Given the description of an element on the screen output the (x, y) to click on. 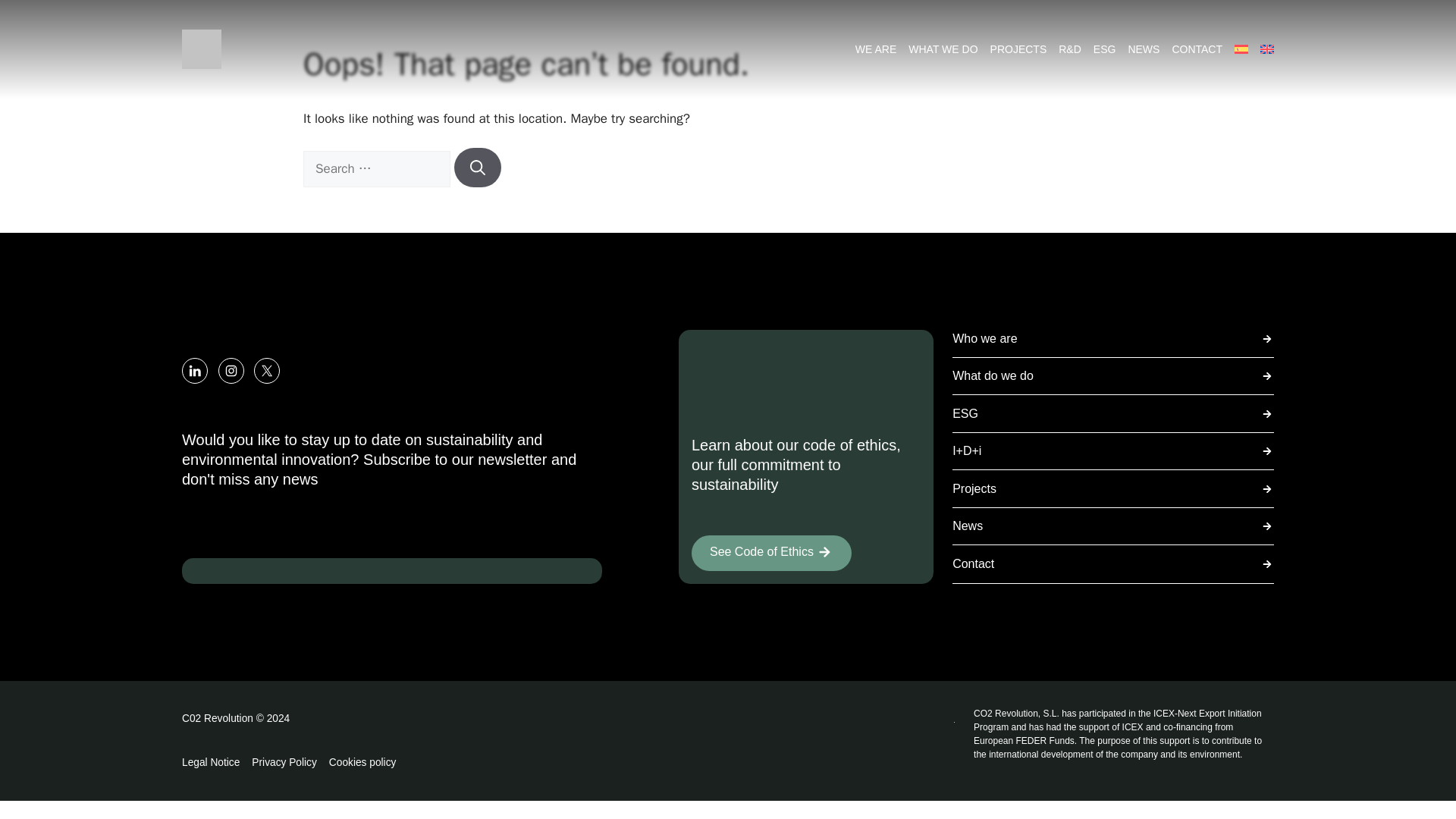
CONTACT (1197, 49)
What do we do (1113, 375)
Privacy Policy (283, 763)
NEWS (1142, 49)
See Code of Ethics (771, 552)
PROJECTS (1018, 49)
Who we are (1113, 339)
WHAT WE DO (942, 49)
Search for: (375, 168)
Cookies policy (362, 763)
